Given the description of an element on the screen output the (x, y) to click on. 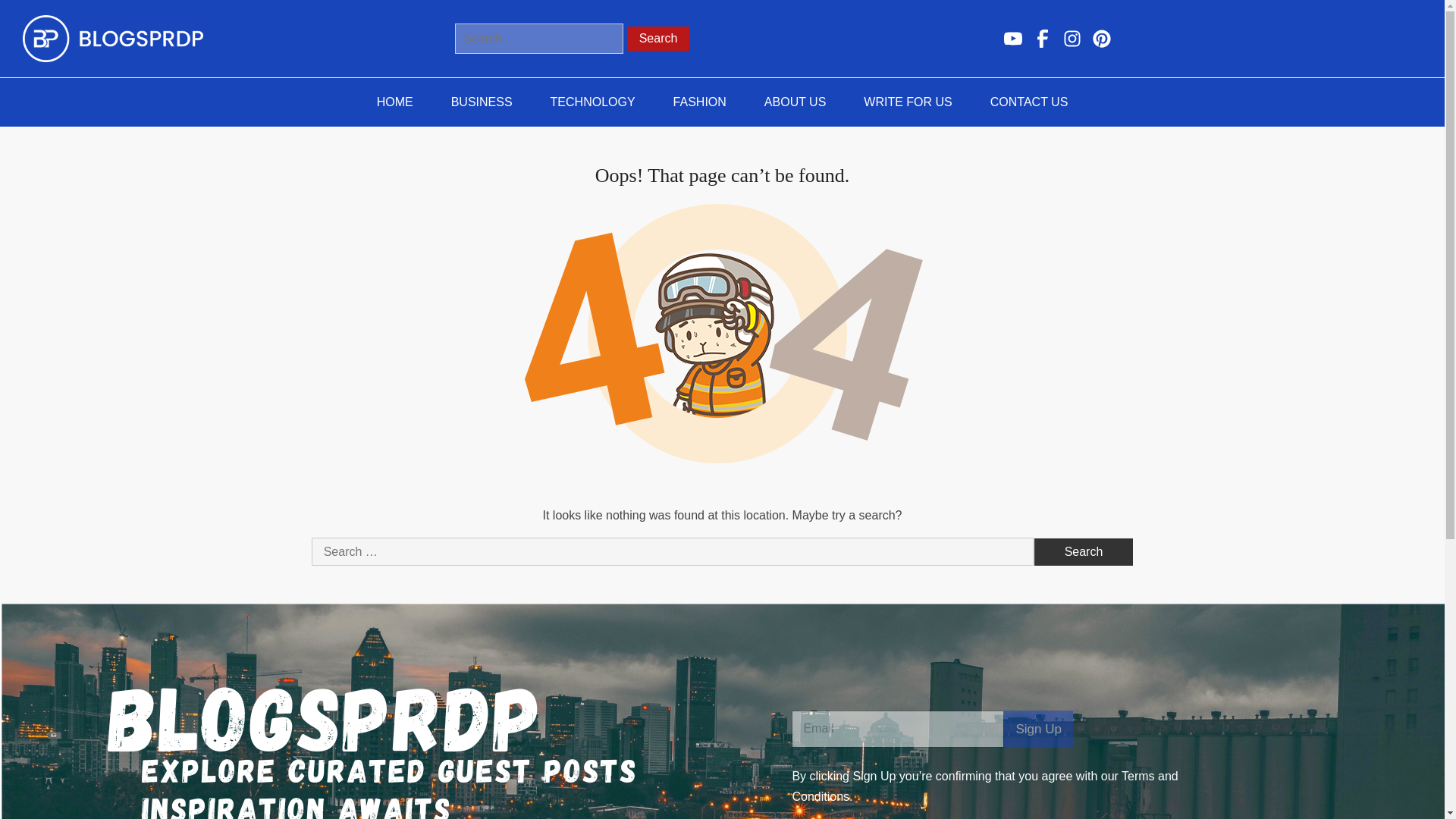
Search (1083, 551)
Search (658, 38)
Search (658, 38)
TECHNOLOGY (592, 101)
FASHION (699, 101)
HOME (395, 101)
BUSINESS (481, 101)
Search (1083, 551)
CONTACT US (1029, 101)
ABOUT US (795, 101)
